Given the description of an element on the screen output the (x, y) to click on. 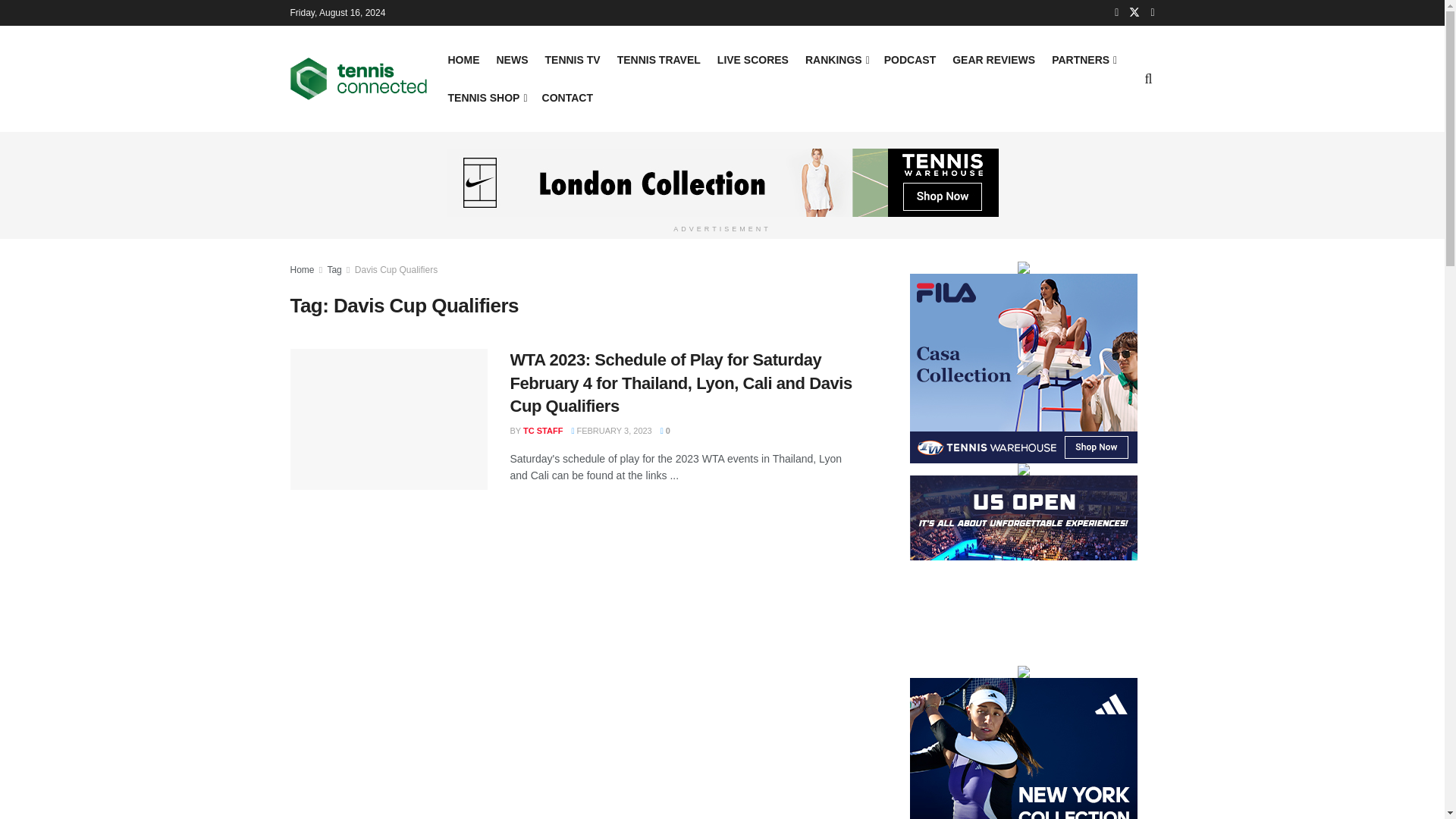
TENNIS TV (571, 59)
NEWS (511, 59)
PARTNERS (1083, 59)
HOME (462, 59)
TENNIS TRAVEL (658, 59)
CONTACT (566, 97)
TENNIS SHOP (485, 97)
PODCAST (909, 59)
GEAR REVIEWS (993, 59)
LIVE SCORES (753, 59)
